Given the description of an element on the screen output the (x, y) to click on. 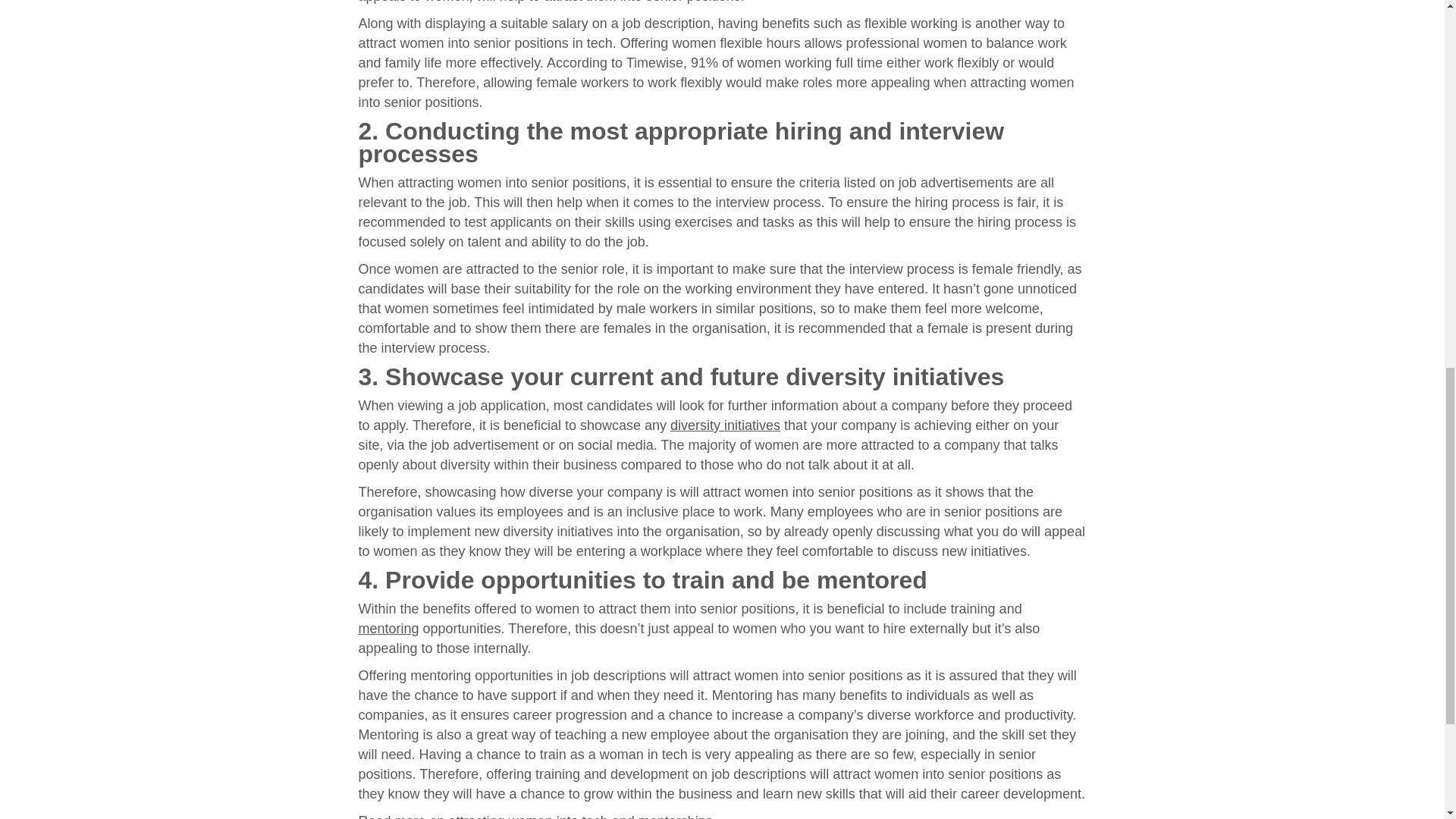
mentoring (388, 628)
diversity initiatives (724, 425)
mentorships. (677, 816)
attracting women into tech (528, 816)
